Given the description of an element on the screen output the (x, y) to click on. 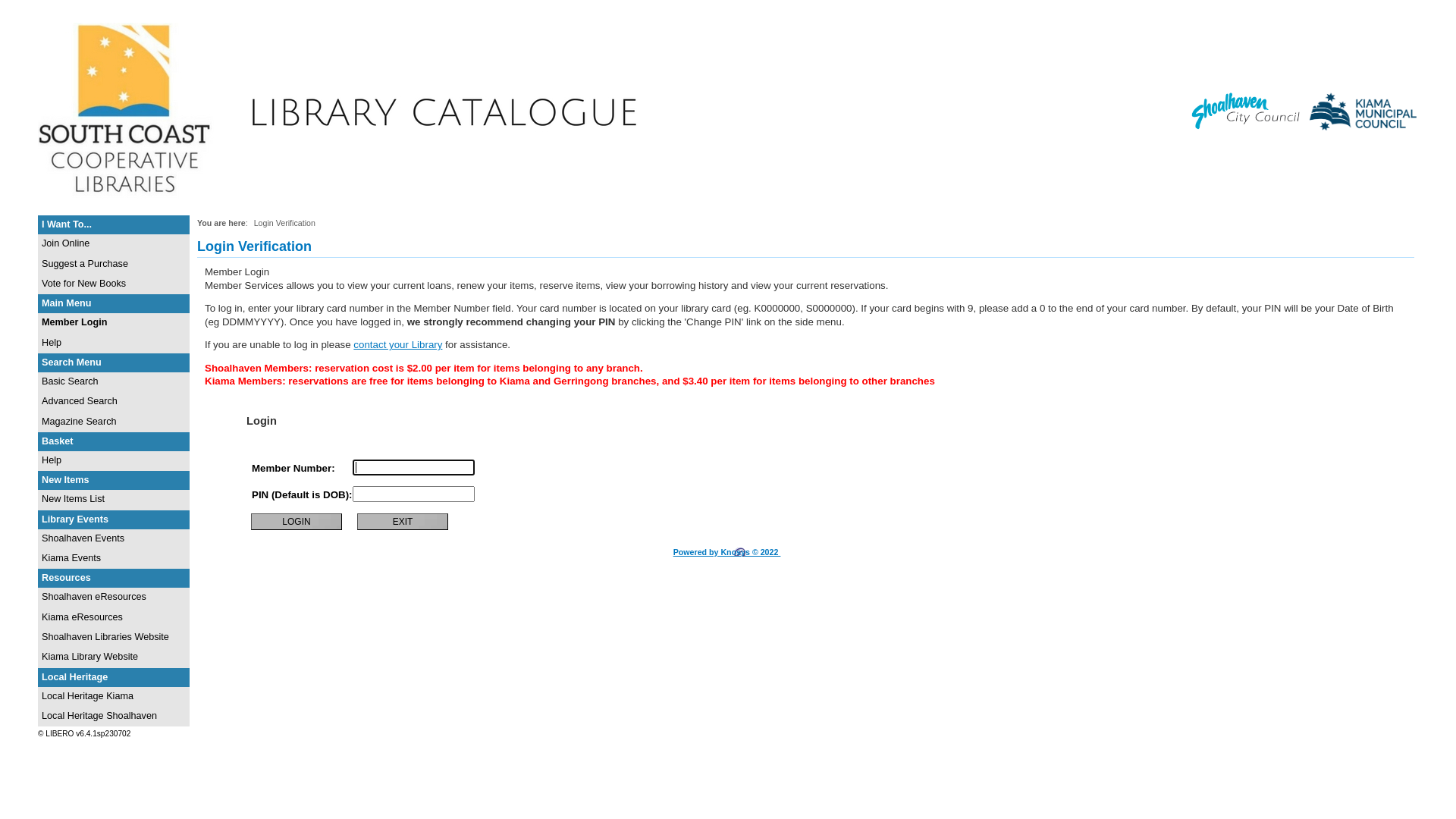
Magazine Search Element type: text (113, 422)
Local Heritage Shoalhaven Element type: text (113, 716)
New Items List Element type: text (113, 499)
LOGIN Element type: text (296, 521)
Advanced Search Element type: text (113, 401)
Basic Search Element type: text (113, 382)
Kiama Events Element type: text (113, 558)
Visit Libero WebOPAC Element type: hover (340, 201)
Shoalhaven Events Element type: text (113, 539)
Member Login Element type: text (113, 322)
Kiama eResources Element type: text (113, 617)
Suggest a Purchase Element type: text (113, 264)
Kiama Library Website Element type: text (113, 657)
Vote for New Books Element type: text (113, 284)
contact your Library Element type: text (397, 344)
Local Heritage Kiama Element type: text (113, 696)
Shoalhaven Libraries Website Element type: text (113, 637)
Help Element type: text (113, 460)
Help Element type: text (113, 343)
Shoalhaven eResources Element type: text (113, 597)
Join Online Element type: text (113, 244)
